Given the description of an element on the screen output the (x, y) to click on. 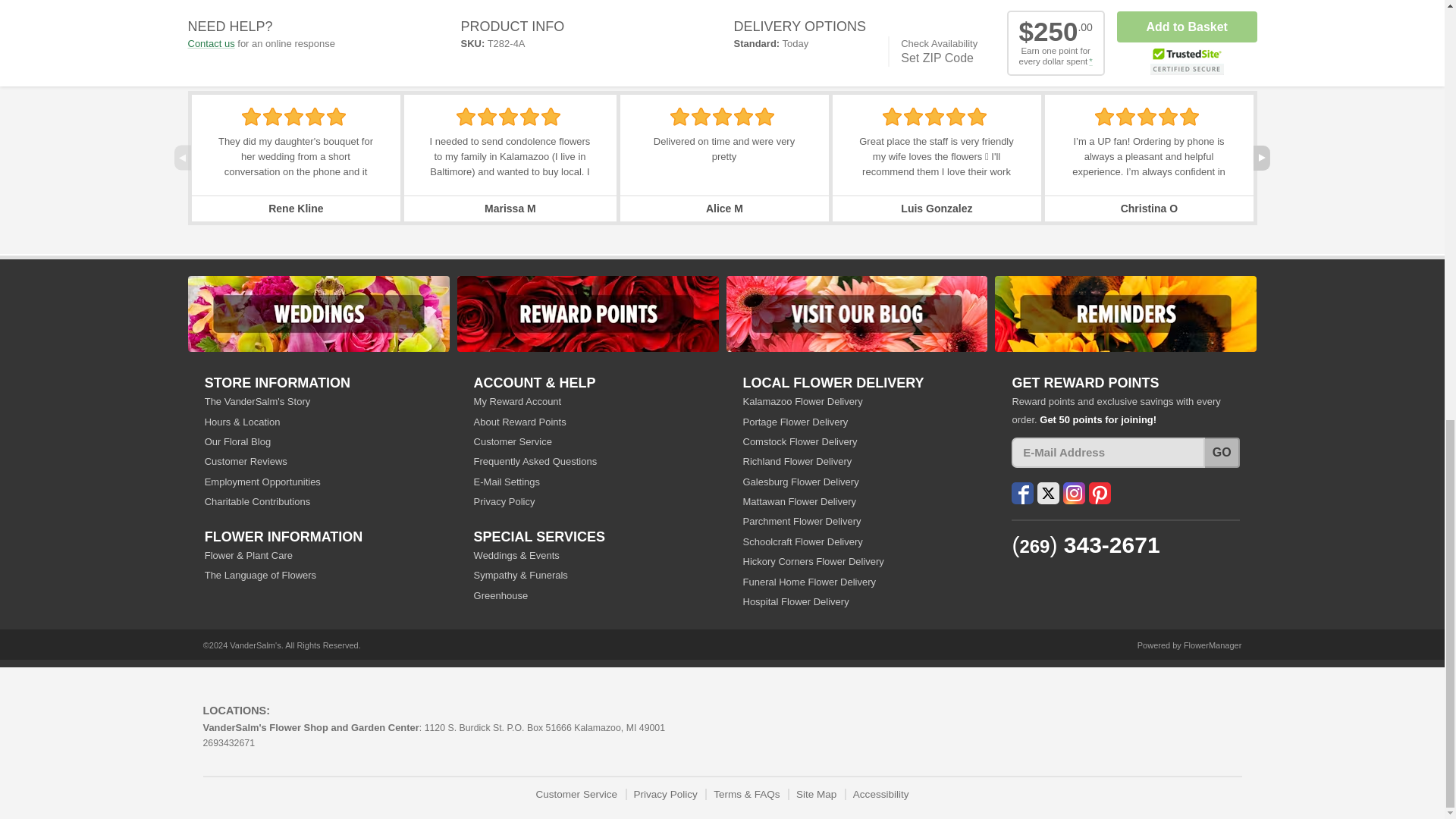
Full Star (508, 116)
Full Star (272, 116)
Full Star (292, 116)
Full Star (314, 116)
Full Star (550, 116)
Full Star (678, 116)
Full Star (466, 116)
Full Star (486, 116)
Full Star (336, 116)
Full Star (528, 116)
Full Star (250, 116)
